Given the description of an element on the screen output the (x, y) to click on. 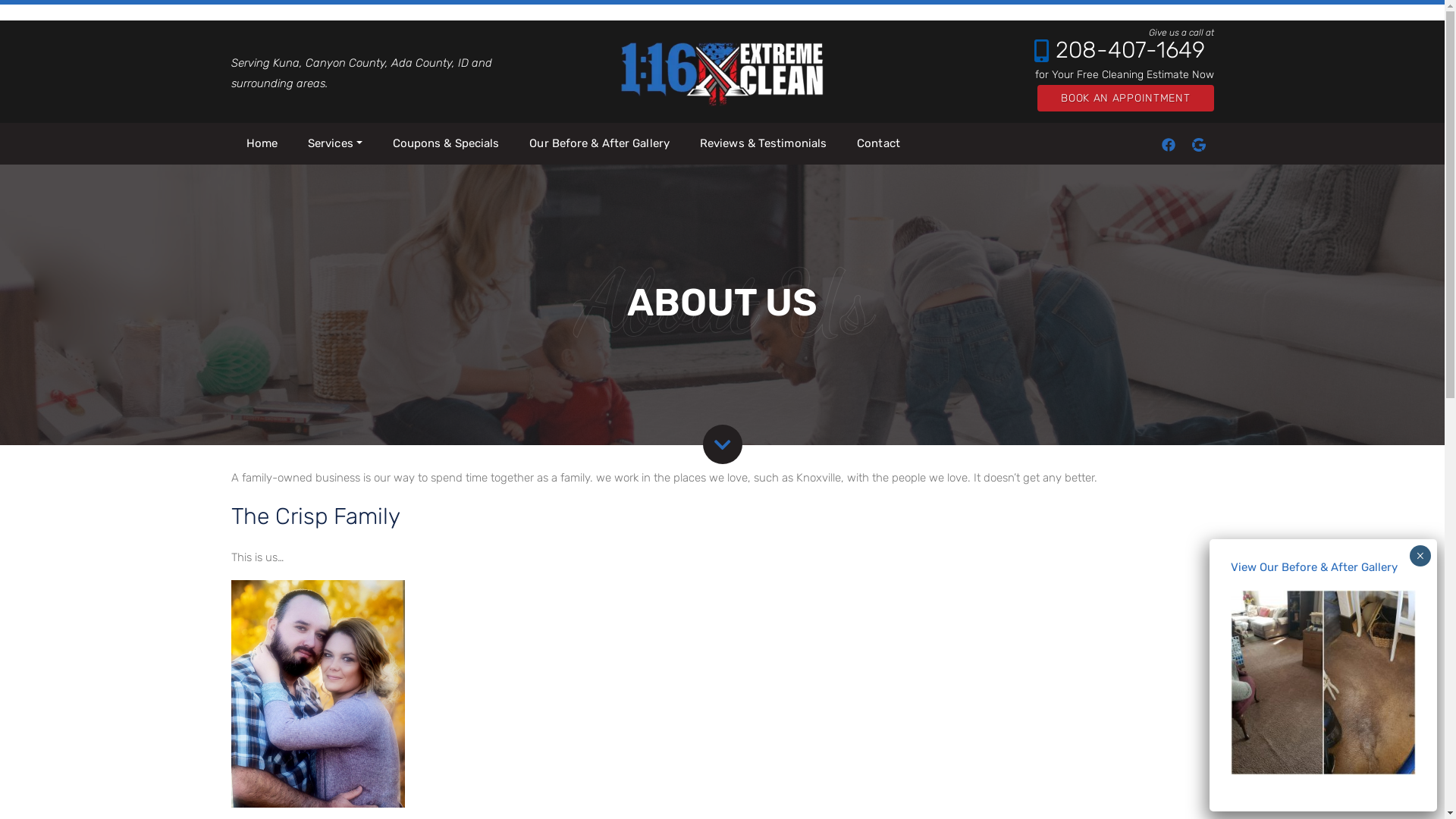
BOOK AN APPOINTMENT Element type: text (1125, 97)
Reviews & Testimonials Element type: text (762, 143)
Our Before & After Gallery Element type: text (599, 143)
Services Element type: text (334, 143)
View Our Before & After Gallery Element type: text (1313, 567)
Home Element type: text (260, 143)
Coupons & Specials Element type: text (445, 143)
Contact Element type: text (878, 143)
